Given the description of an element on the screen output the (x, y) to click on. 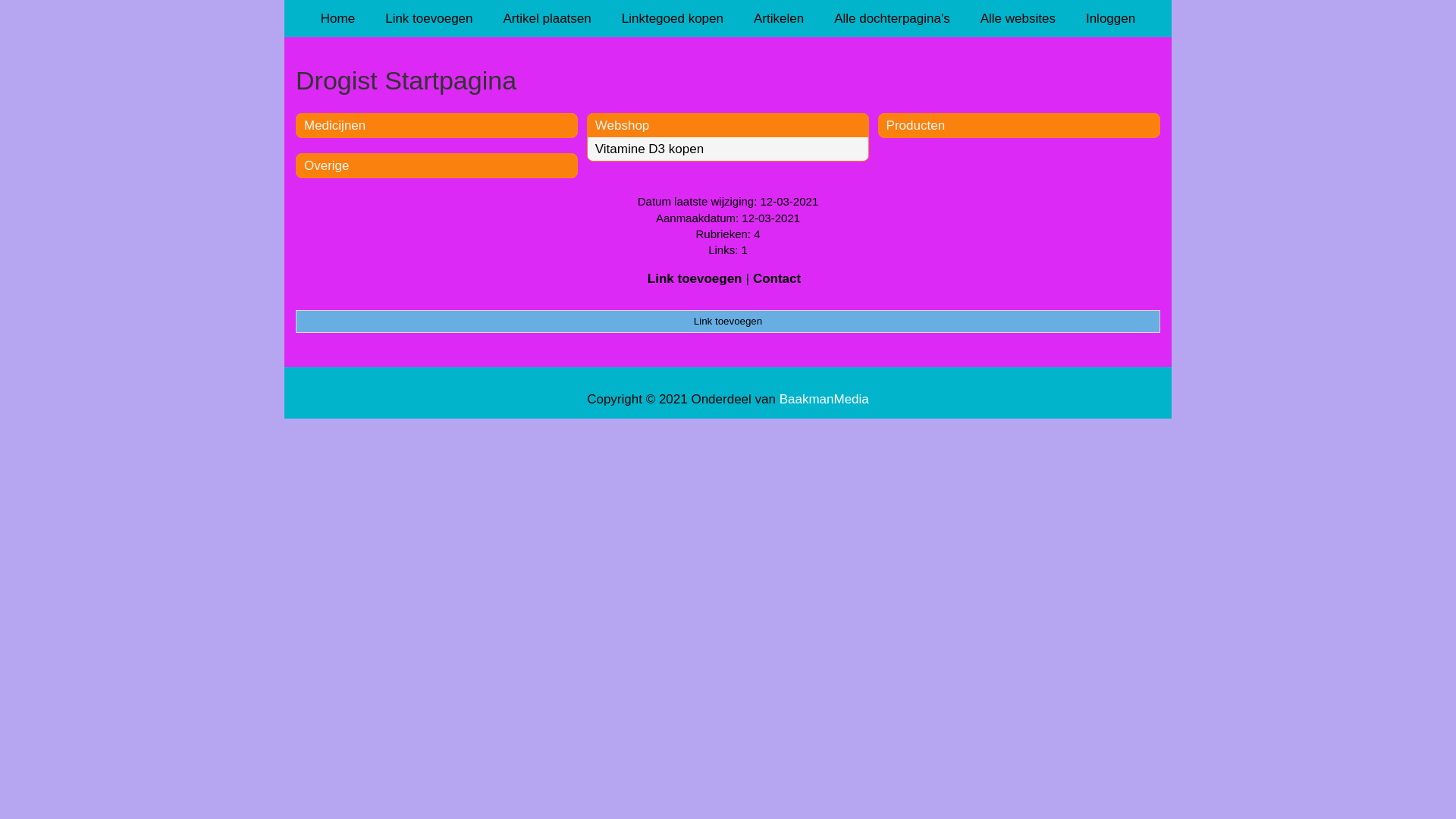
Link toevoegen Element type: text (694, 278)
Producten Element type: text (915, 125)
Link toevoegen Element type: text (727, 321)
Link toevoegen Element type: text (428, 18)
BaakmanMedia Element type: text (824, 399)
Vitamine D3 kopen Element type: text (649, 148)
Artikel plaatsen Element type: text (547, 18)
Alle dochterpagina's Element type: text (892, 18)
Drogist Startpagina Element type: text (727, 80)
Medicijnen Element type: text (334, 125)
Webshop Element type: text (622, 125)
Linktegoed kopen Element type: text (672, 18)
Inloggen Element type: text (1110, 18)
Overige Element type: text (326, 165)
Alle websites Element type: text (1017, 18)
Home Element type: text (337, 18)
Contact Element type: text (776, 278)
Artikelen Element type: text (778, 18)
